Given the description of an element on the screen output the (x, y) to click on. 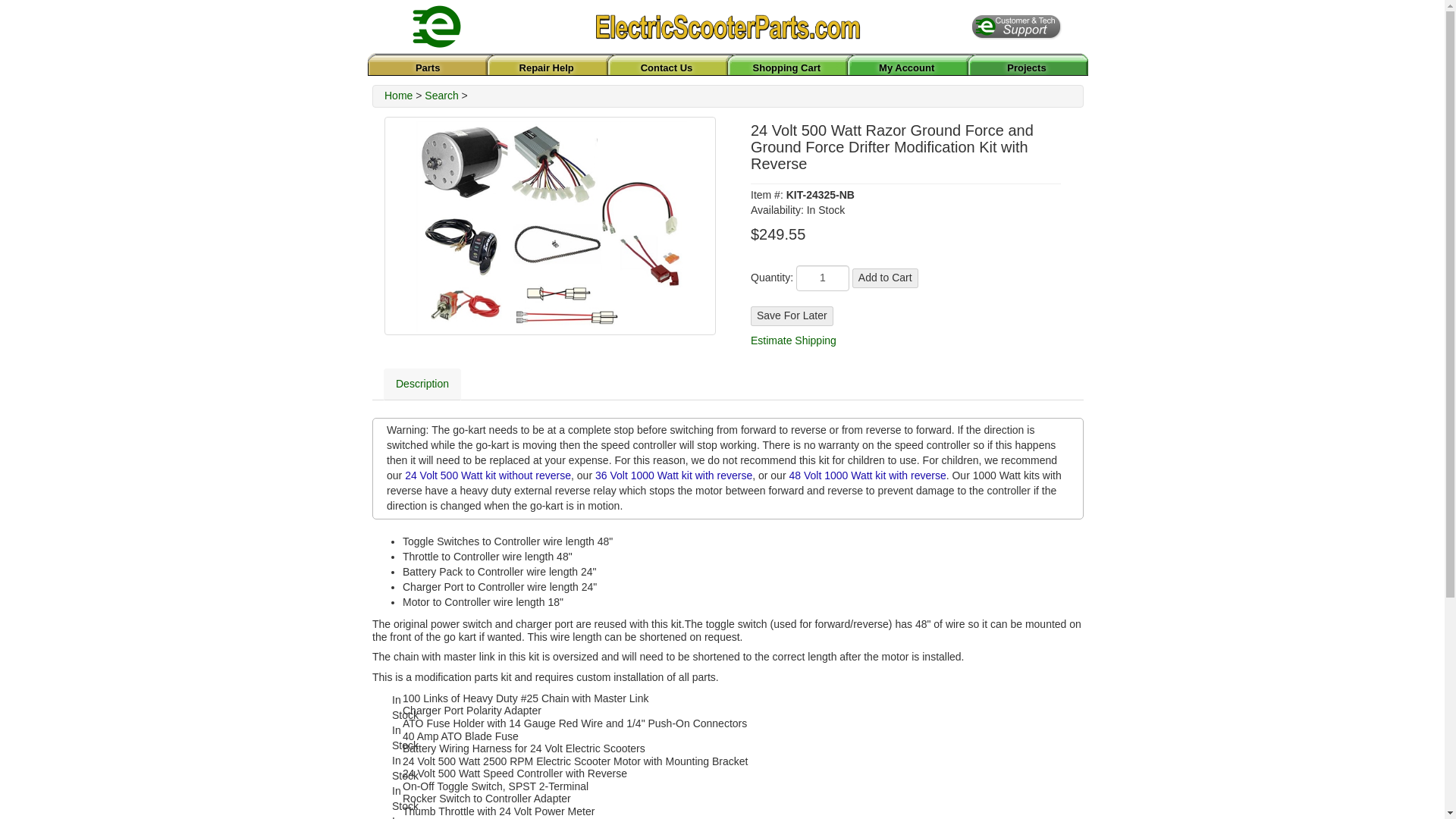
Home (398, 95)
My Account (906, 67)
Add to Cart (884, 278)
Estimate Shipping (793, 340)
Shopping Cart (786, 67)
Save For Later (791, 315)
24 Volt 500 Watt kit without reverse (487, 475)
Search (441, 95)
Save For Later (791, 315)
Add to Cart (884, 278)
48 Volt 1000 Watt kit with reverse (866, 475)
Repair Help (546, 67)
36 Volt 1000 Watt kit with reverse (673, 475)
Projects (1026, 67)
Description (422, 384)
